Given the description of an element on the screen output the (x, y) to click on. 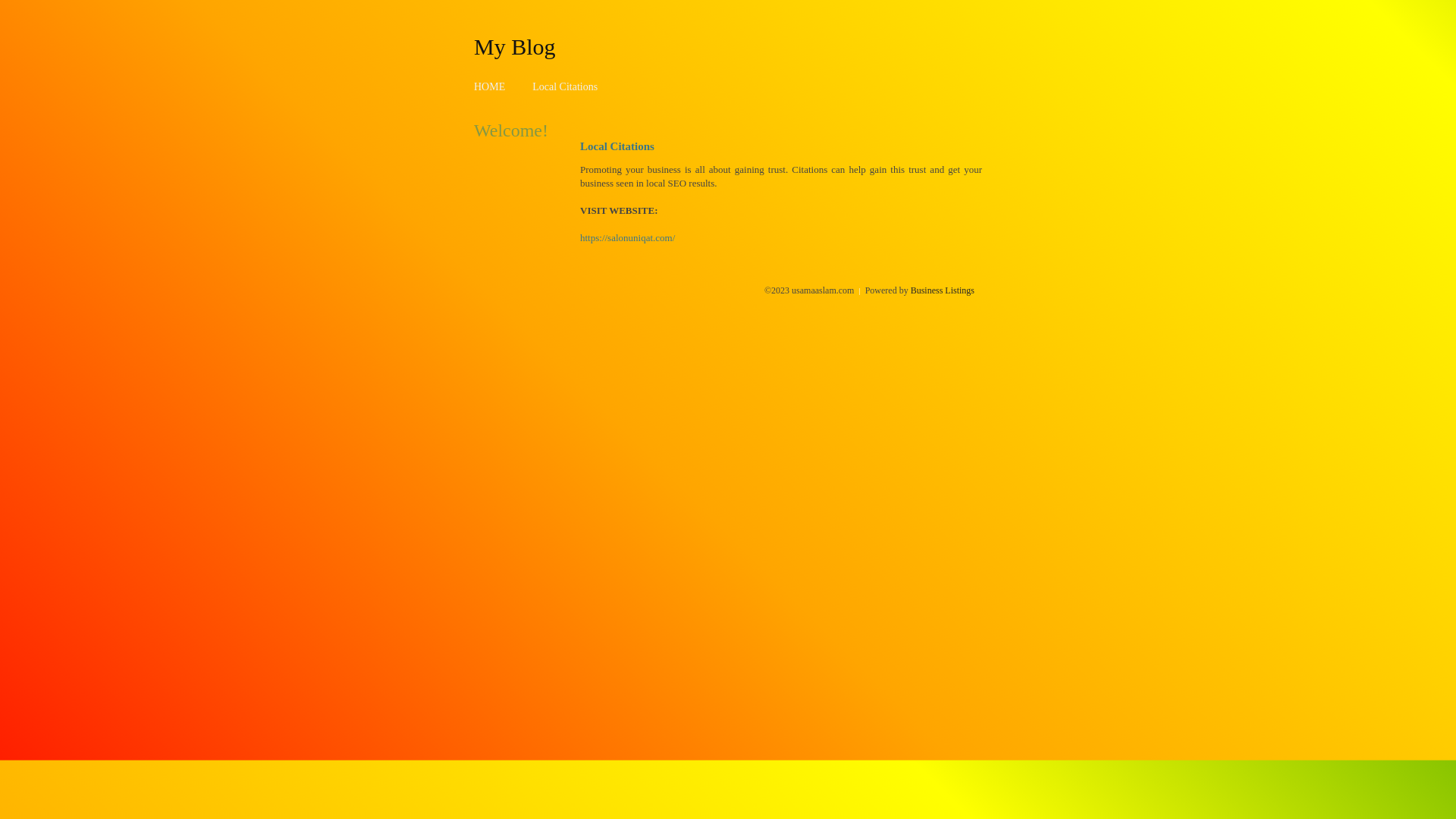
https://salonuniqat.com/ Element type: text (627, 237)
Business Listings Element type: text (942, 290)
My Blog Element type: text (514, 46)
Local Citations Element type: text (564, 86)
HOME Element type: text (489, 86)
